Given the description of an element on the screen output the (x, y) to click on. 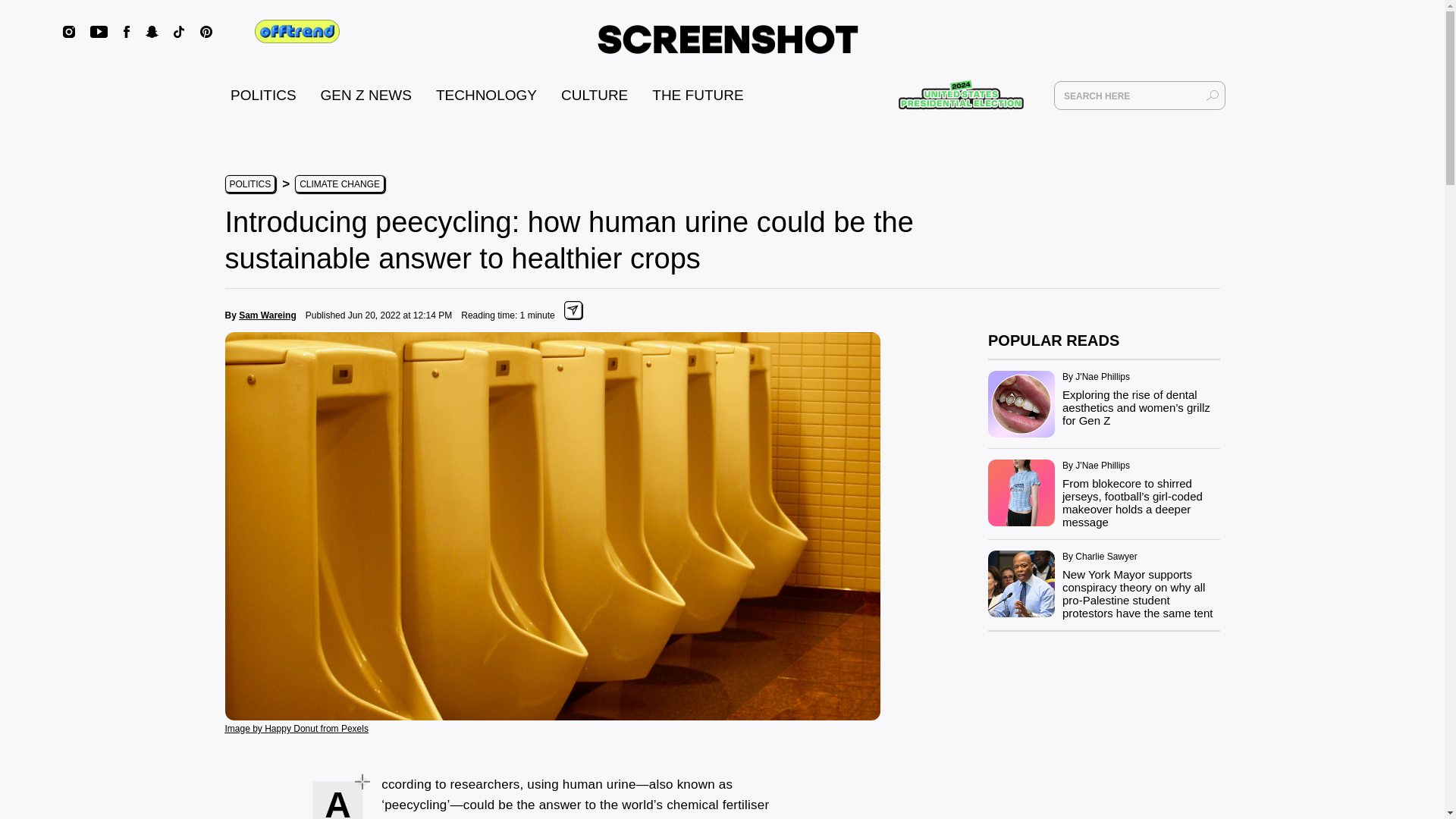
CULTURE (593, 94)
GEN Z NEWS (366, 94)
Image by Happy Donut from Pexels (296, 727)
CLIMATE CHANGE (339, 184)
Sam Wareing (267, 315)
TECHNOLOGY (486, 94)
POLITICS (263, 94)
THE FUTURE (697, 94)
POLITICS (249, 184)
